Given the description of an element on the screen output the (x, y) to click on. 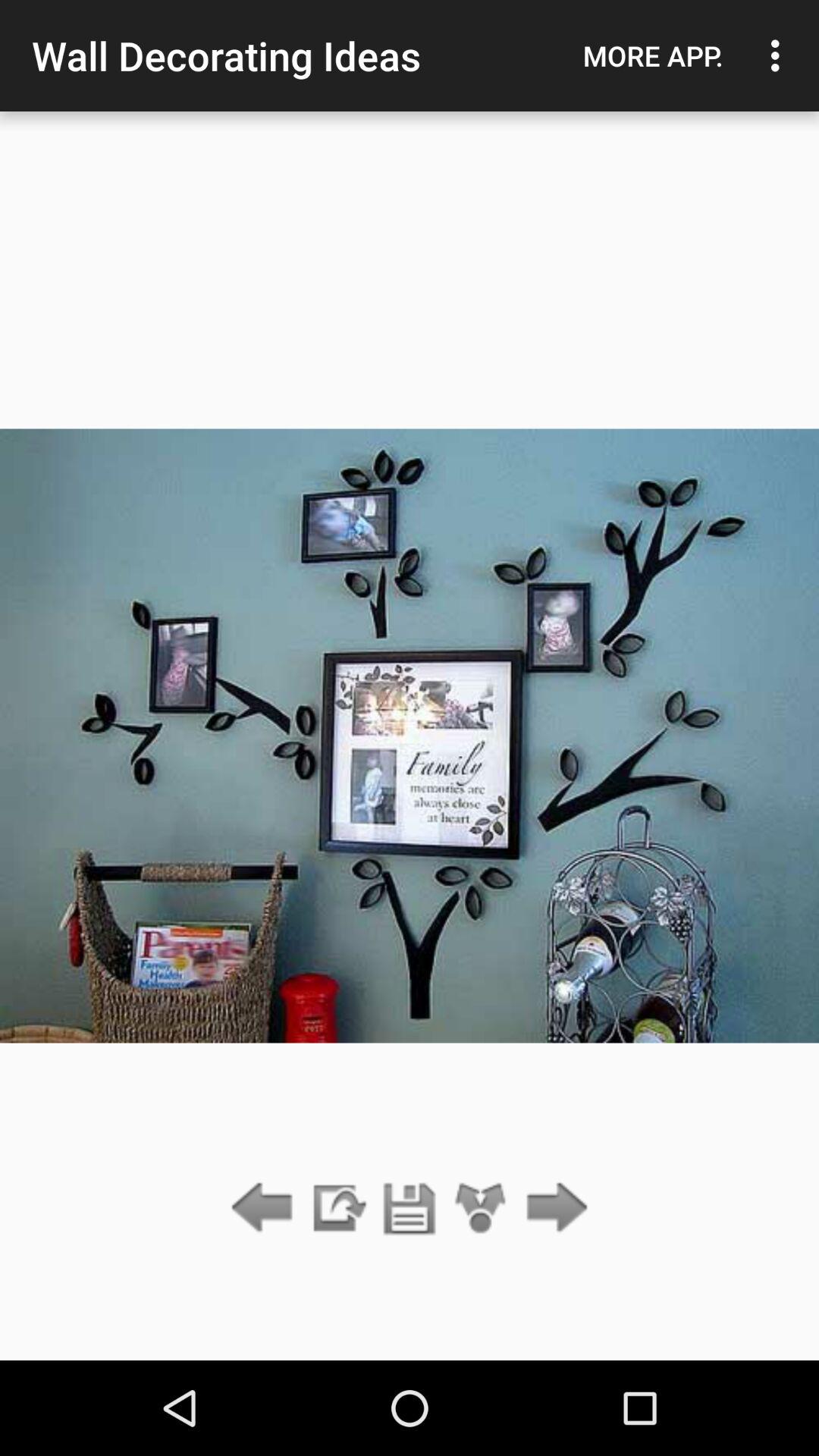
open the app next to wall decorating ideas app (653, 55)
